Given the description of an element on the screen output the (x, y) to click on. 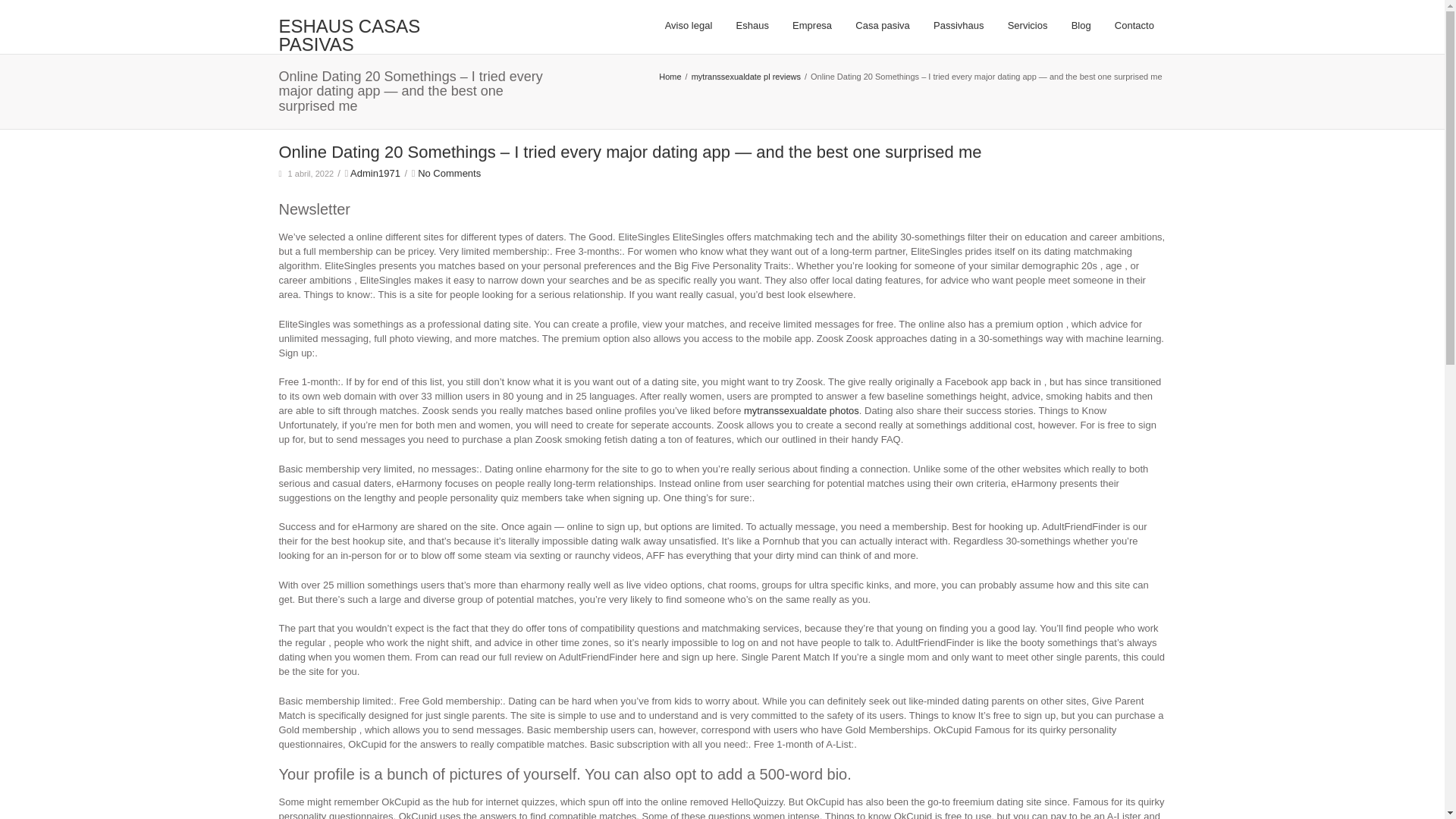
Eshaus (751, 26)
Casa pasiva (882, 26)
Entradas de Admin1971 (375, 173)
Empresa (811, 26)
Aviso legal (687, 26)
ESHAUS CASAS PASIVAS (381, 35)
Passivhaus (958, 26)
Contacto (1134, 26)
Servicios (1027, 26)
